Given the description of an element on the screen output the (x, y) to click on. 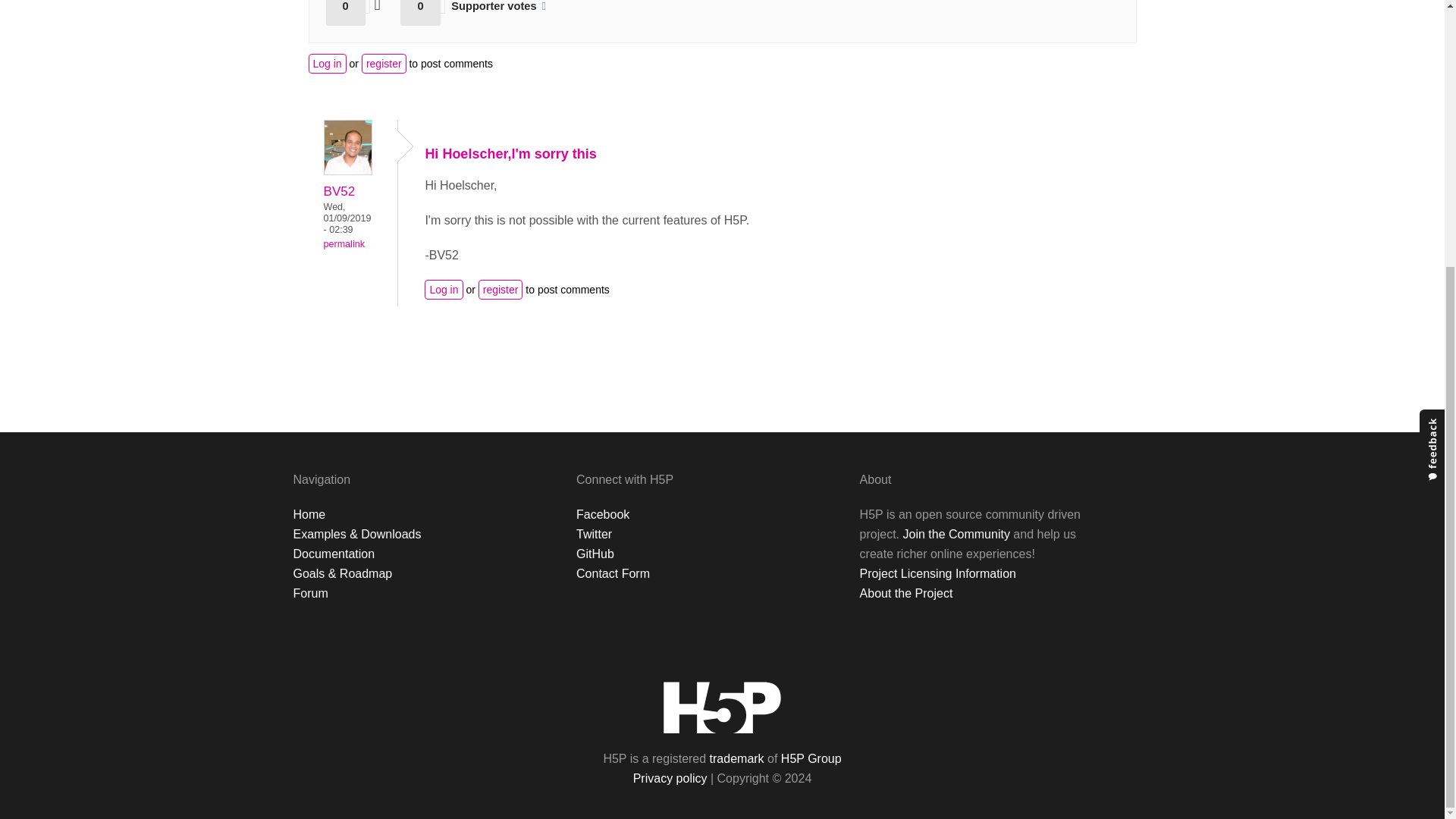
Home (308, 513)
Front page (722, 706)
trademark (737, 758)
Contact Form (612, 573)
H5P Group (810, 758)
permalink (343, 244)
About the Project (906, 593)
Facebook (602, 513)
Forum (309, 593)
Join the Community (956, 533)
